Given the description of an element on the screen output the (x, y) to click on. 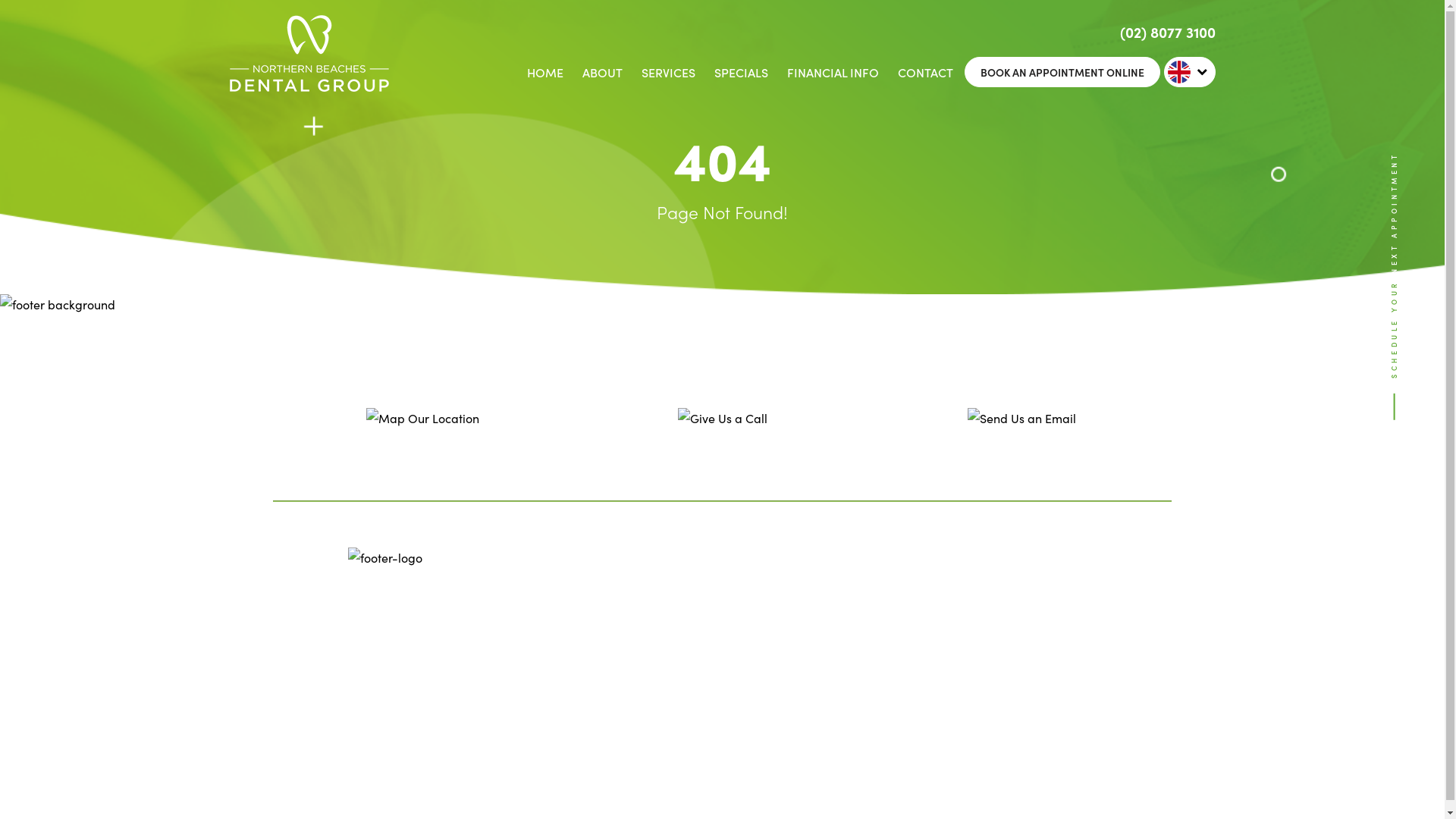
Extractions Element type: text (534, 720)
(02) 8077 3100 Element type: text (804, 664)
Northern Beaches Dental Group Logo Element type: hover (308, 86)
Sync Medico Marketing Element type: text (600, 792)
Send Us an Email Element type: text (1021, 435)
info@nbdentalgroup.com.au Element type: text (804, 685)
Map Our Location Element type: text (422, 435)
SERVICES Element type: text (667, 71)
FINANCIAL INFO Element type: text (832, 71)
Services Element type: text (528, 645)
SPECIALS Element type: text (740, 71)
(02) 8077 3100 Element type: text (1166, 31)
Invisalign Element type: text (632, 720)
BOOK AN APPOINTMENT ONLINE Element type: text (1062, 71)
View More Services Element type: text (555, 745)
Give Us a Call Element type: text (722, 435)
CONTACT Element type: text (925, 71)
Terms and Conditions Element type: text (534, 681)
Privacy Policy Element type: text (541, 620)
Contact Element type: text (527, 595)
Cosmetic Dentistry Element type: text (653, 670)
Crowns and Bridges Element type: text (658, 695)
General Dentistry Element type: text (651, 595)
HOME Element type: text (544, 71)
FAQs Element type: text (621, 620)
About Element type: text (623, 645)
ABOUT Element type: text (602, 71)
